Given the description of an element on the screen output the (x, y) to click on. 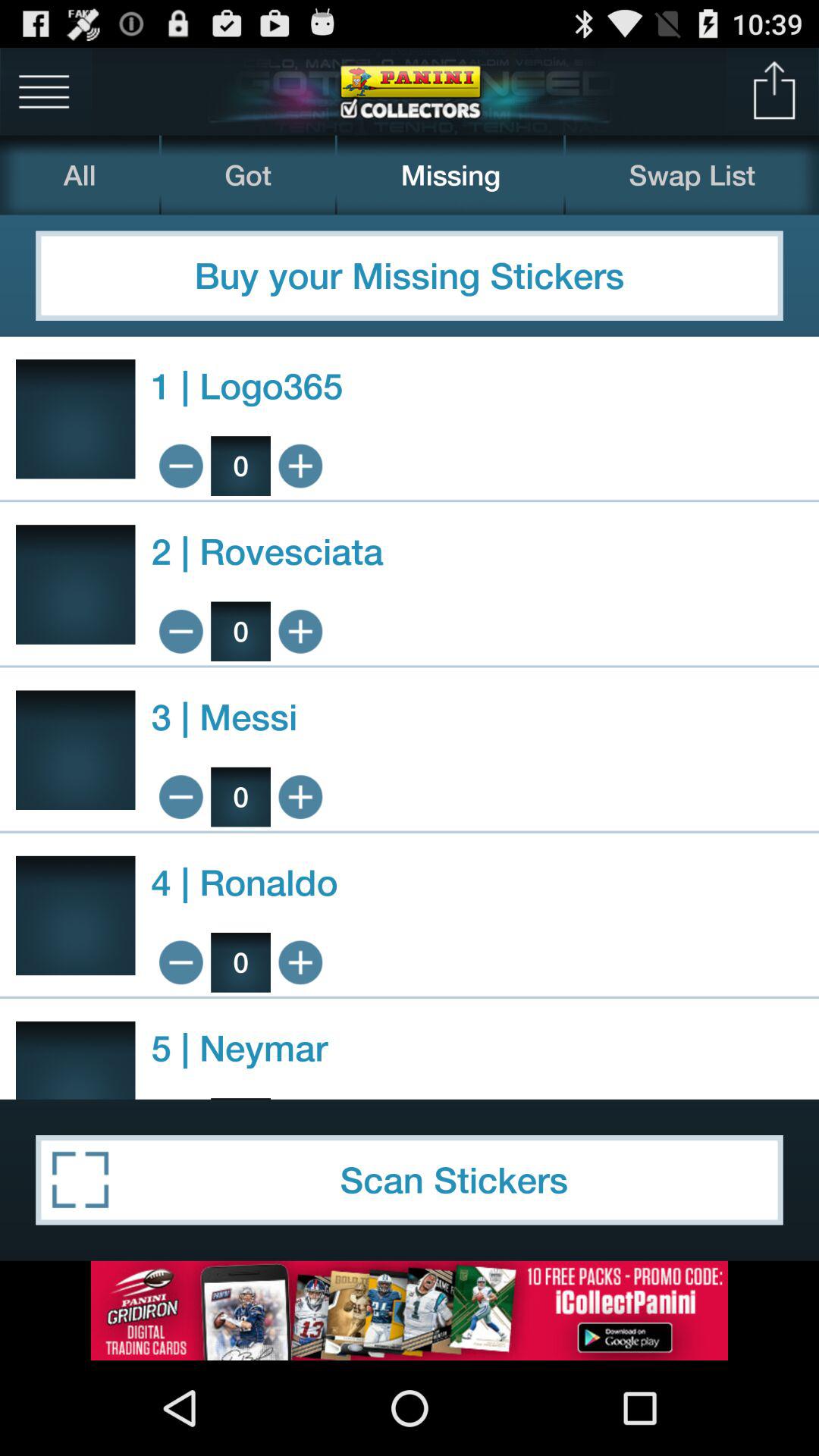
upload file (774, 91)
